Given the description of an element on the screen output the (x, y) to click on. 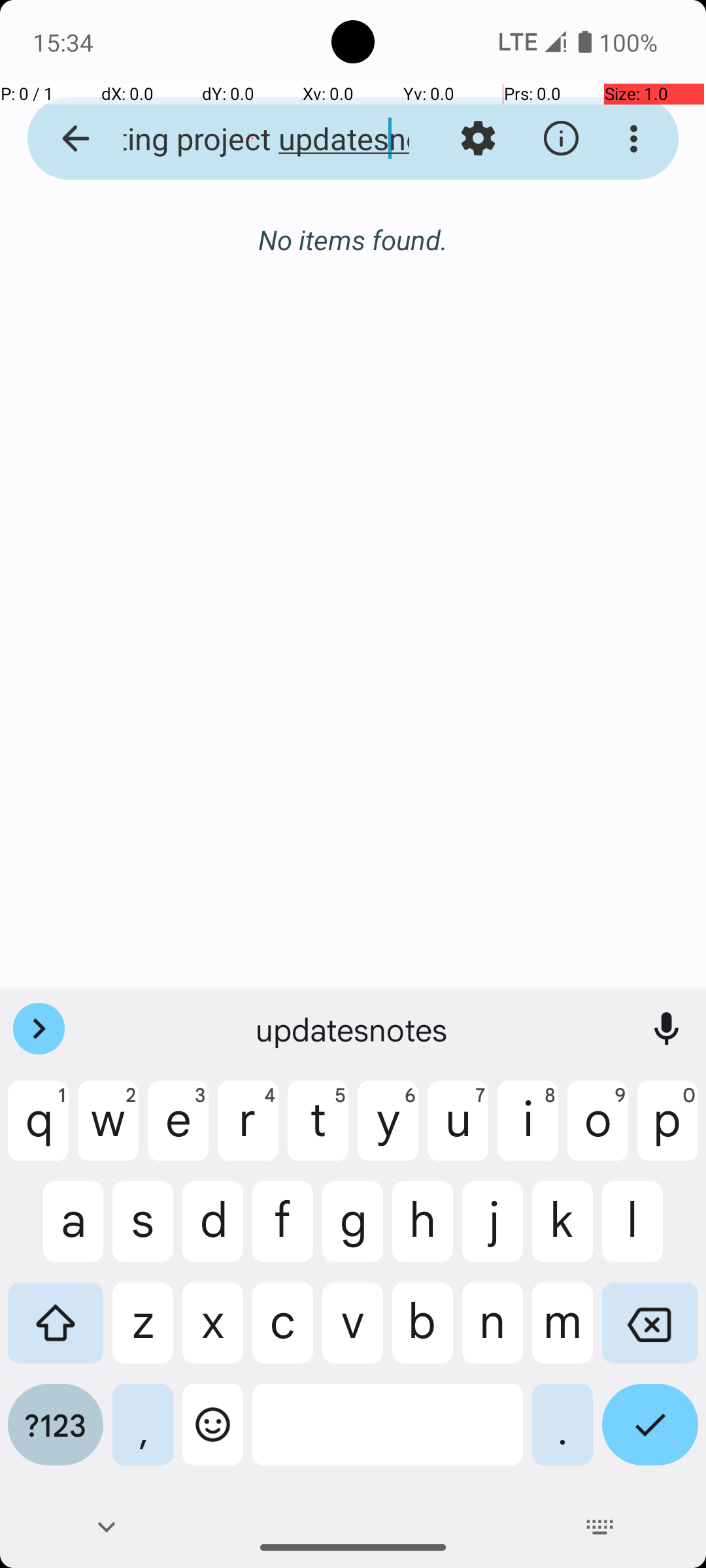
"meeting project updatesnotes" Element type: android.widget.EditText (252, 138)
updatesnotes Element type: android.widget.FrameLayout (352, 1028)
